Given the description of an element on the screen output the (x, y) to click on. 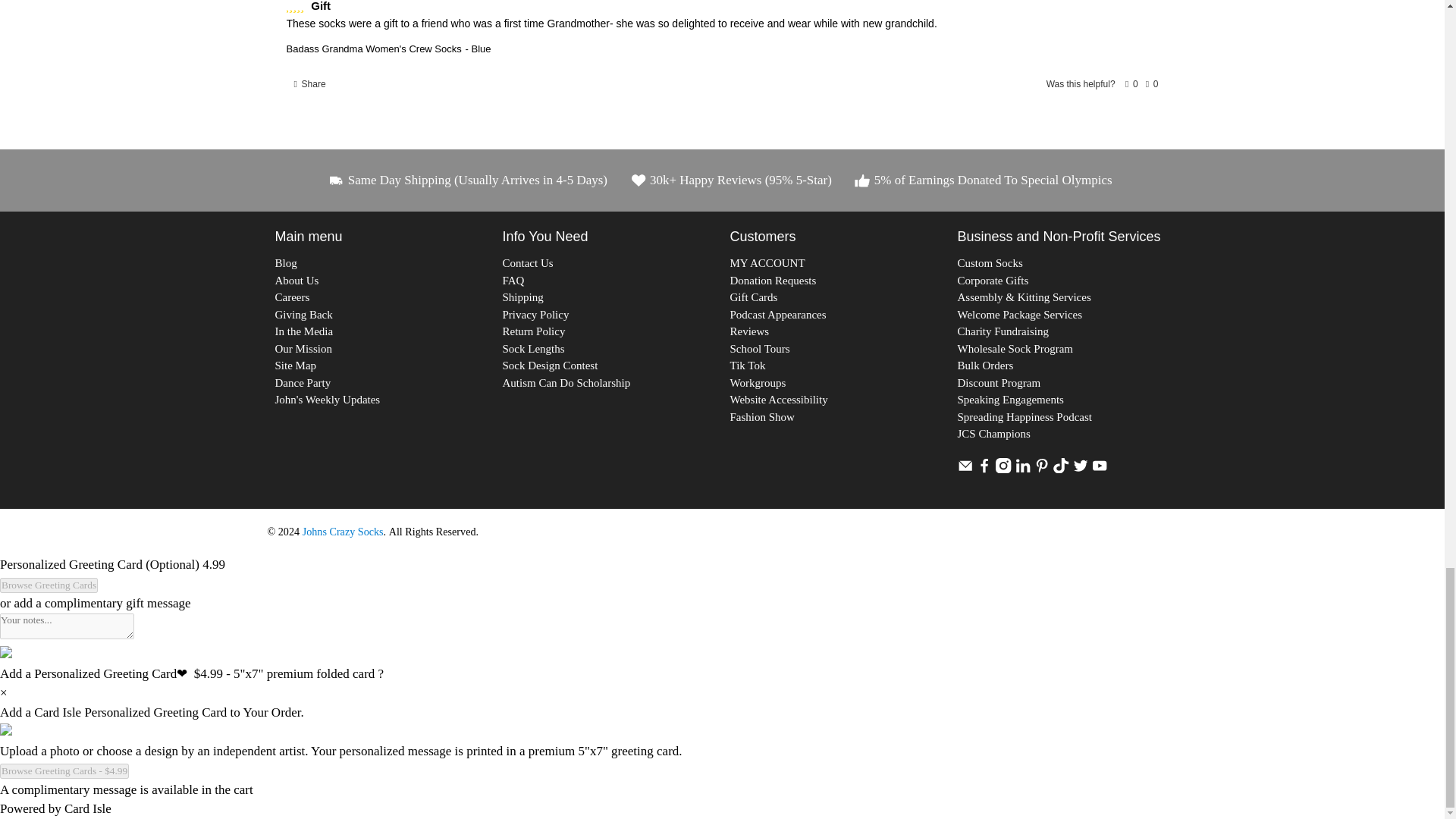
Johns Crazy Socks on Twitter (1080, 469)
Johns Crazy Socks on Facebook (983, 469)
Johns Crazy Socks on Instagram (1002, 469)
Johns Crazy Socks on YouTube (1099, 469)
Johns Crazy Socks on LinkedIn (1022, 469)
Email Johns Crazy Socks (964, 469)
Johns Crazy Socks on TikTok (1060, 469)
Johns Crazy Socks on Pinterest (1041, 469)
